Given the description of an element on the screen output the (x, y) to click on. 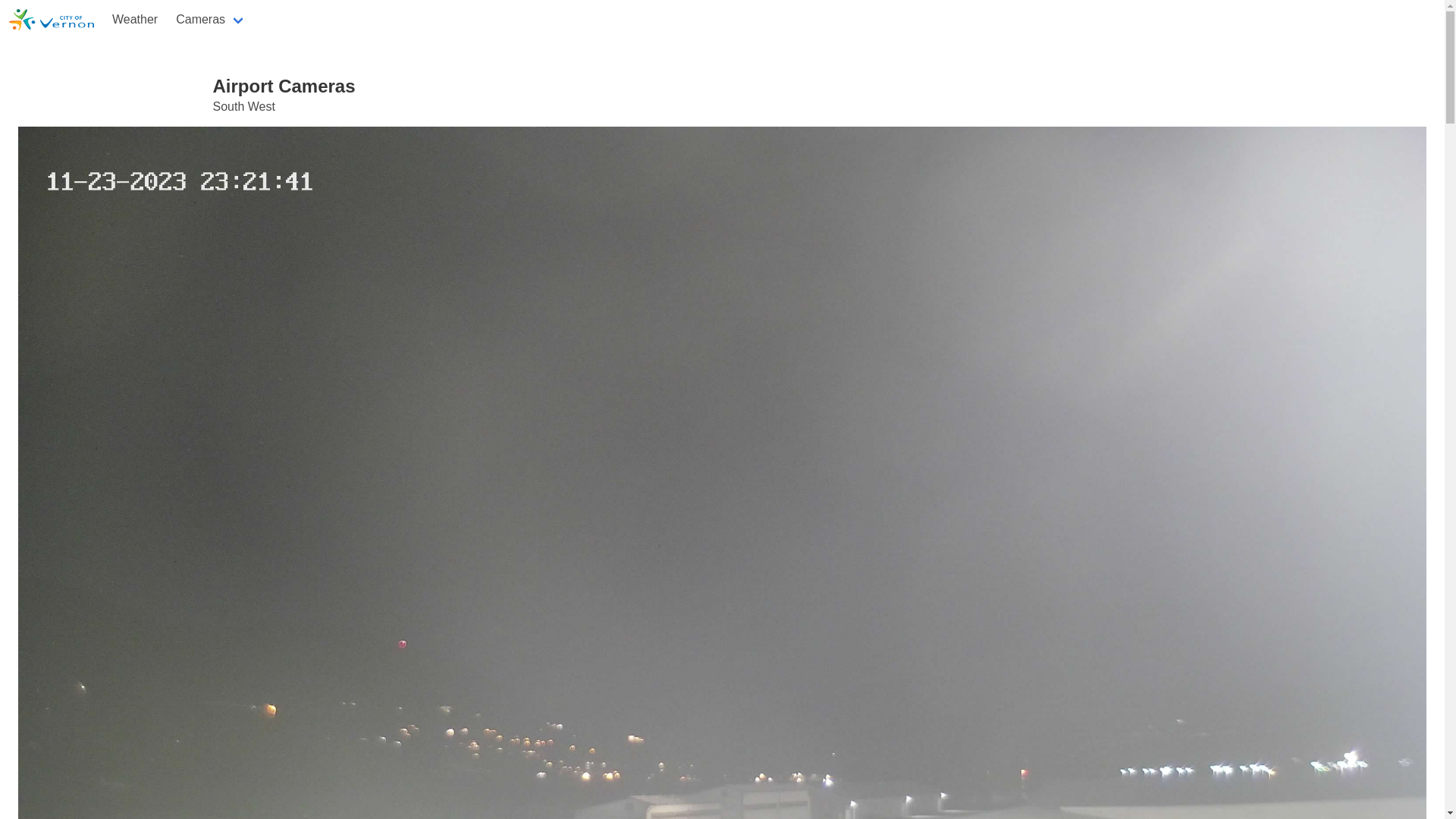
Cameras Element type: text (210, 19)
Weather Element type: text (134, 19)
